Given the description of an element on the screen output the (x, y) to click on. 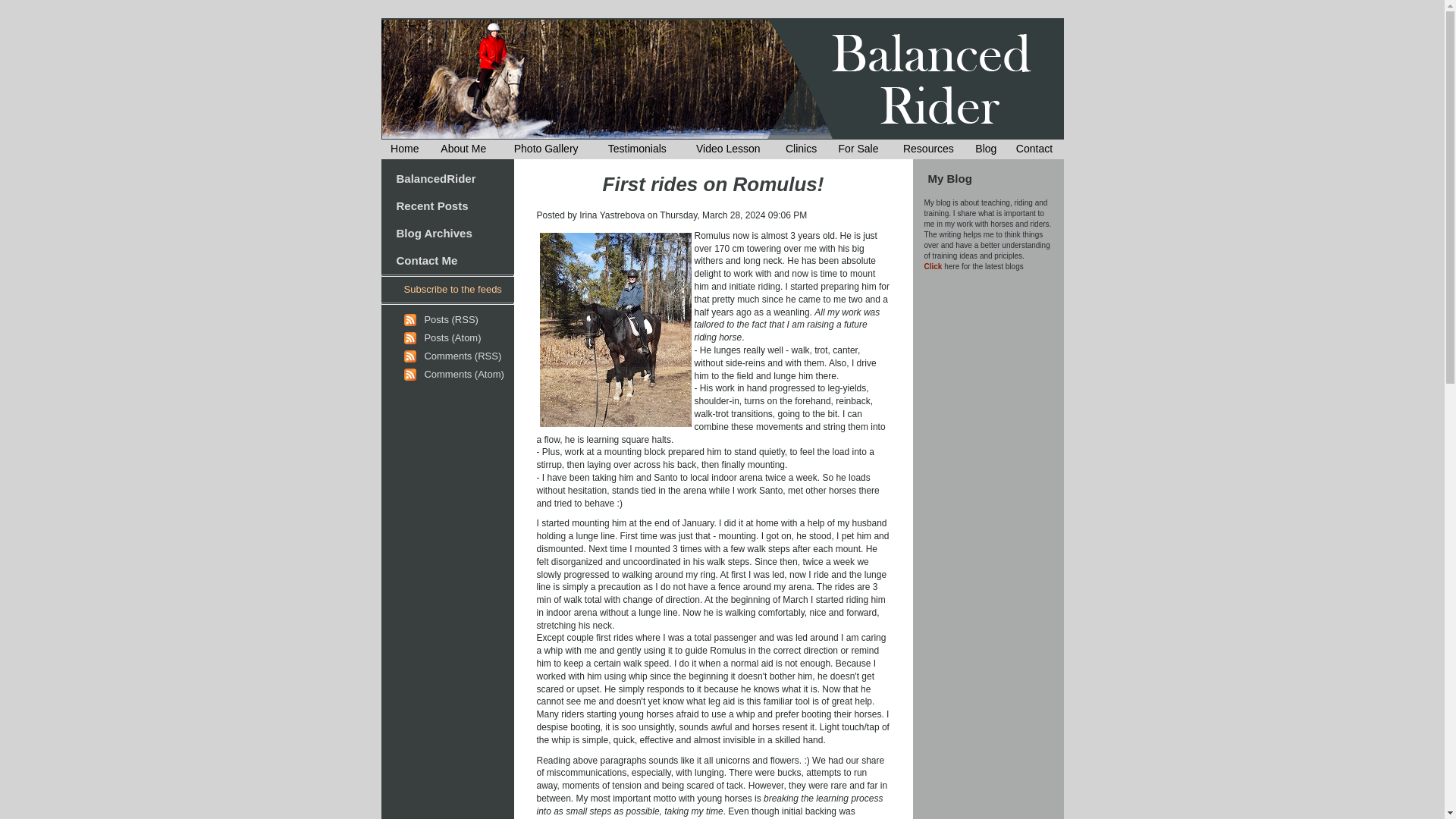
Contact (1034, 148)
Blog Archives (433, 232)
Video Lesson (727, 148)
Testimonials (637, 148)
Resources (927, 148)
Photo Gallery (545, 148)
Recent Posts (431, 205)
For Sale (858, 148)
Contact Me (426, 259)
Blog (985, 148)
Clinics (801, 148)
Click (932, 266)
Home (404, 148)
About Me (463, 148)
BalancedRider (436, 178)
